Given the description of an element on the screen output the (x, y) to click on. 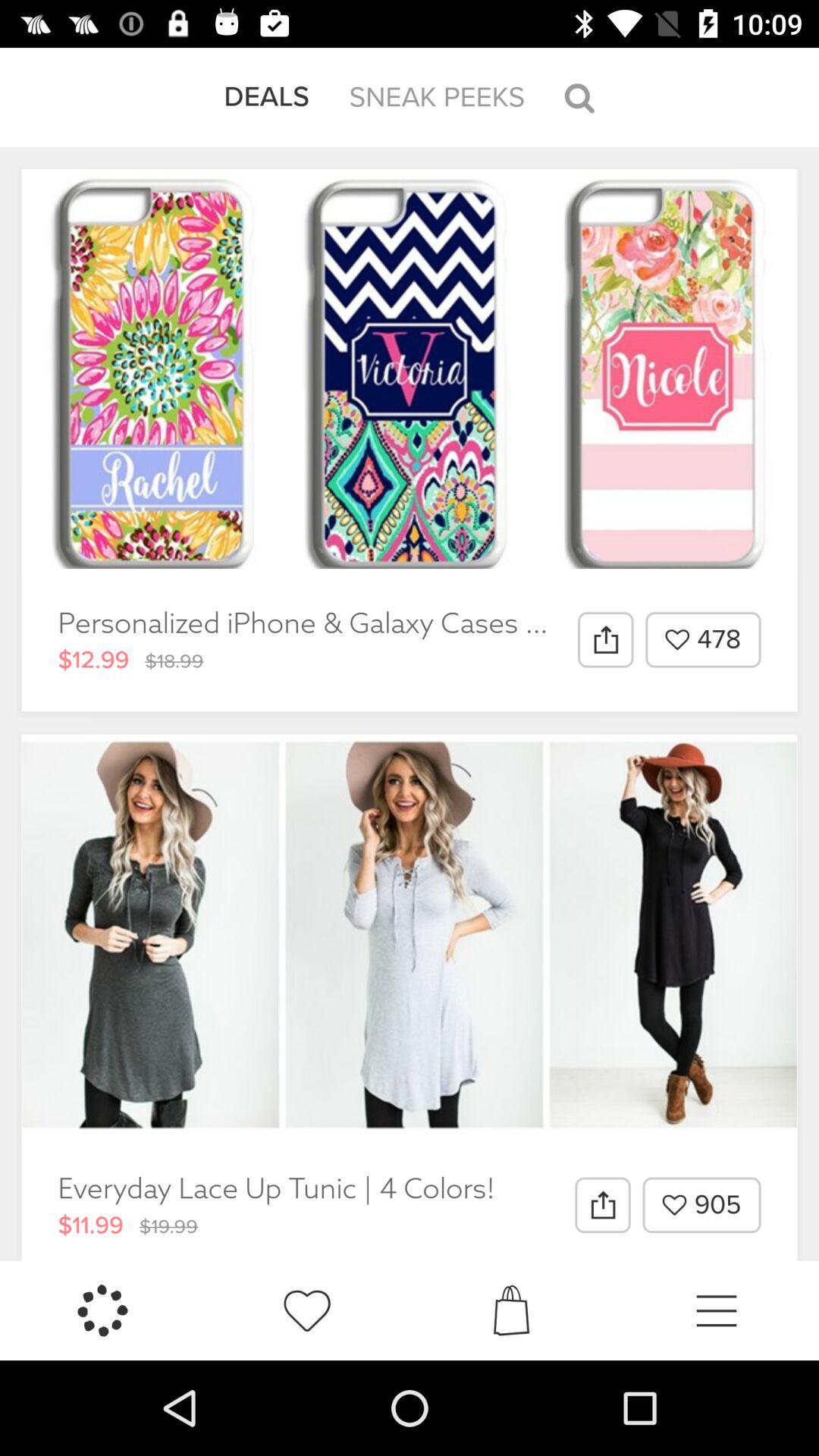
turn on the icon below the $11.99 icon (102, 1310)
